Given the description of an element on the screen output the (x, y) to click on. 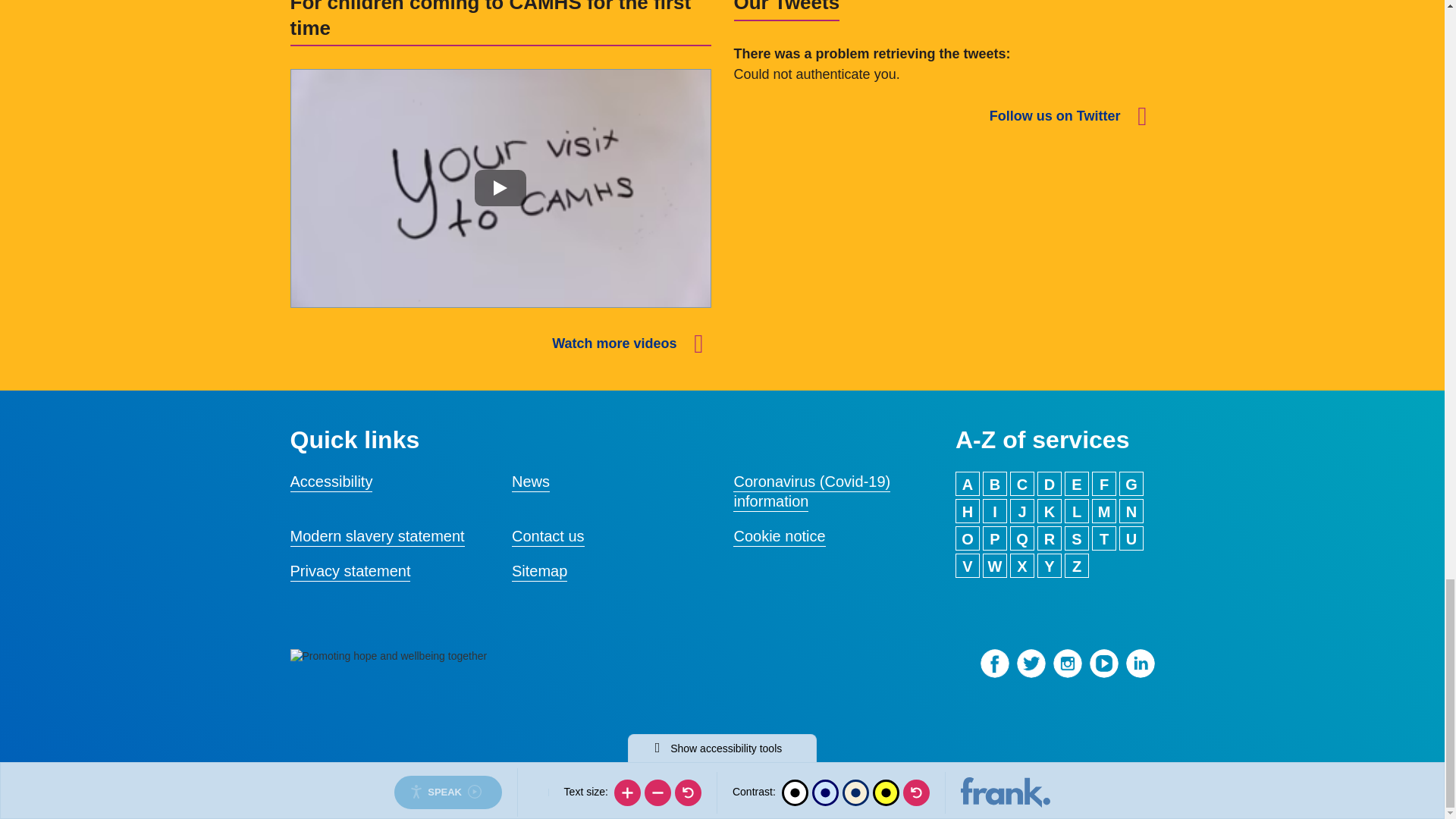
LinkedIn (1139, 662)
Twitter (1030, 662)
Instagram (1066, 662)
Embedded Vimeo video (500, 187)
Facebook (994, 662)
Youtube (1103, 662)
